Given the description of an element on the screen output the (x, y) to click on. 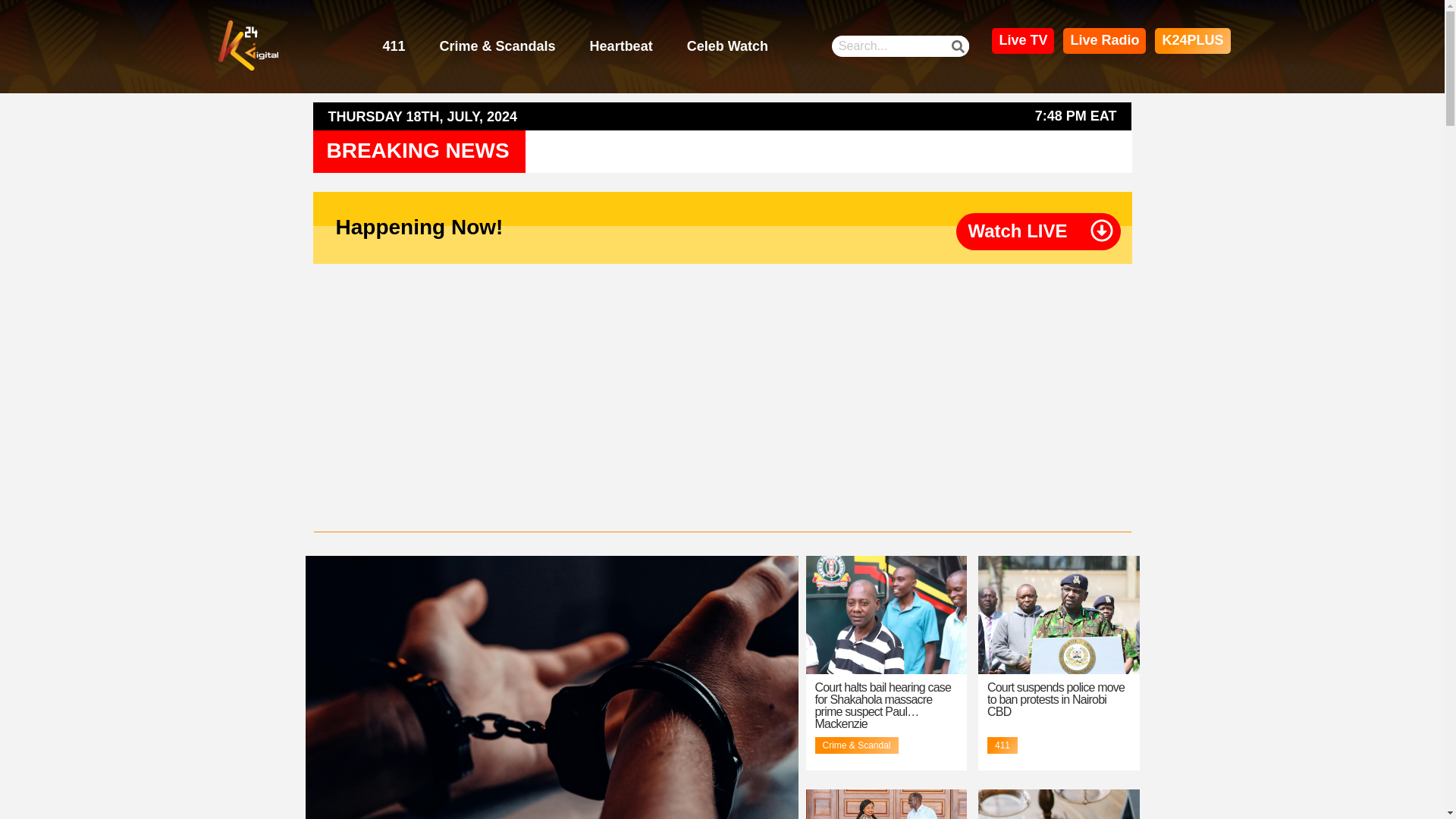
Celeb Watch (727, 46)
Live TV (1022, 40)
Live Radio (1103, 40)
K24PLUS (1192, 40)
Watch LIVE (1017, 230)
Court suspends police move to ban protests in Nairobi CBD (1055, 699)
